Given the description of an element on the screen output the (x, y) to click on. 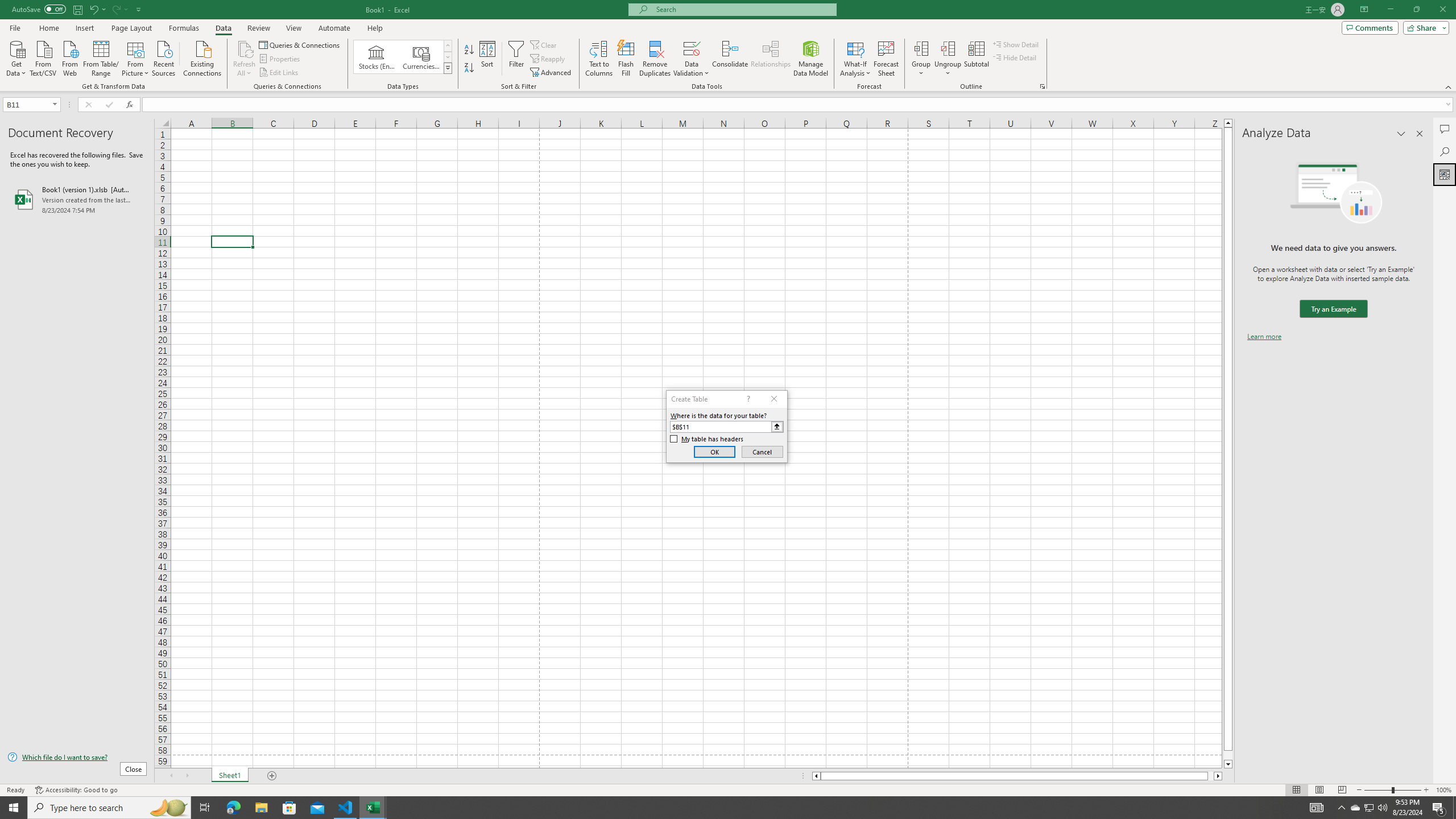
Data Types (448, 67)
Get Data (16, 57)
Clear (544, 44)
Forecast Sheet (885, 58)
Automate (334, 28)
From Picture (135, 57)
Sort... (487, 58)
Sort Z to A (469, 67)
Group... (921, 58)
Reapply (548, 58)
Add Sheet (272, 775)
Recent Sources (163, 57)
Save (77, 9)
